Given the description of an element on the screen output the (x, y) to click on. 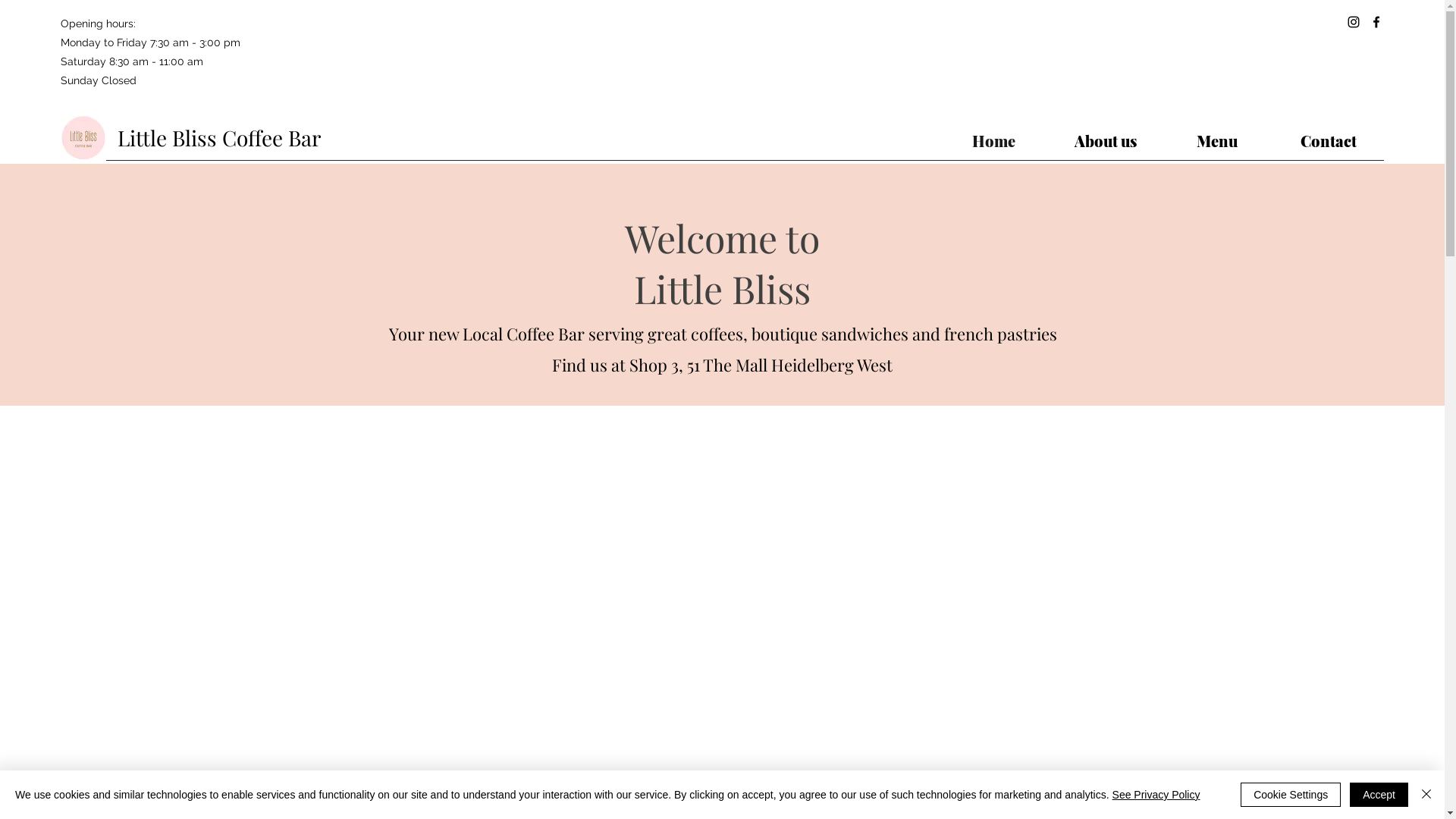
Home Element type: text (993, 140)
Cookie Settings Element type: text (1290, 794)
Little Bliss Coffee Bar Element type: text (218, 137)
Accept Element type: text (1378, 794)
About us Element type: text (1105, 140)
Menu Element type: text (1216, 140)
See Privacy Policy Element type: text (1156, 794)
Contact Element type: text (1327, 140)
